Given the description of an element on the screen output the (x, y) to click on. 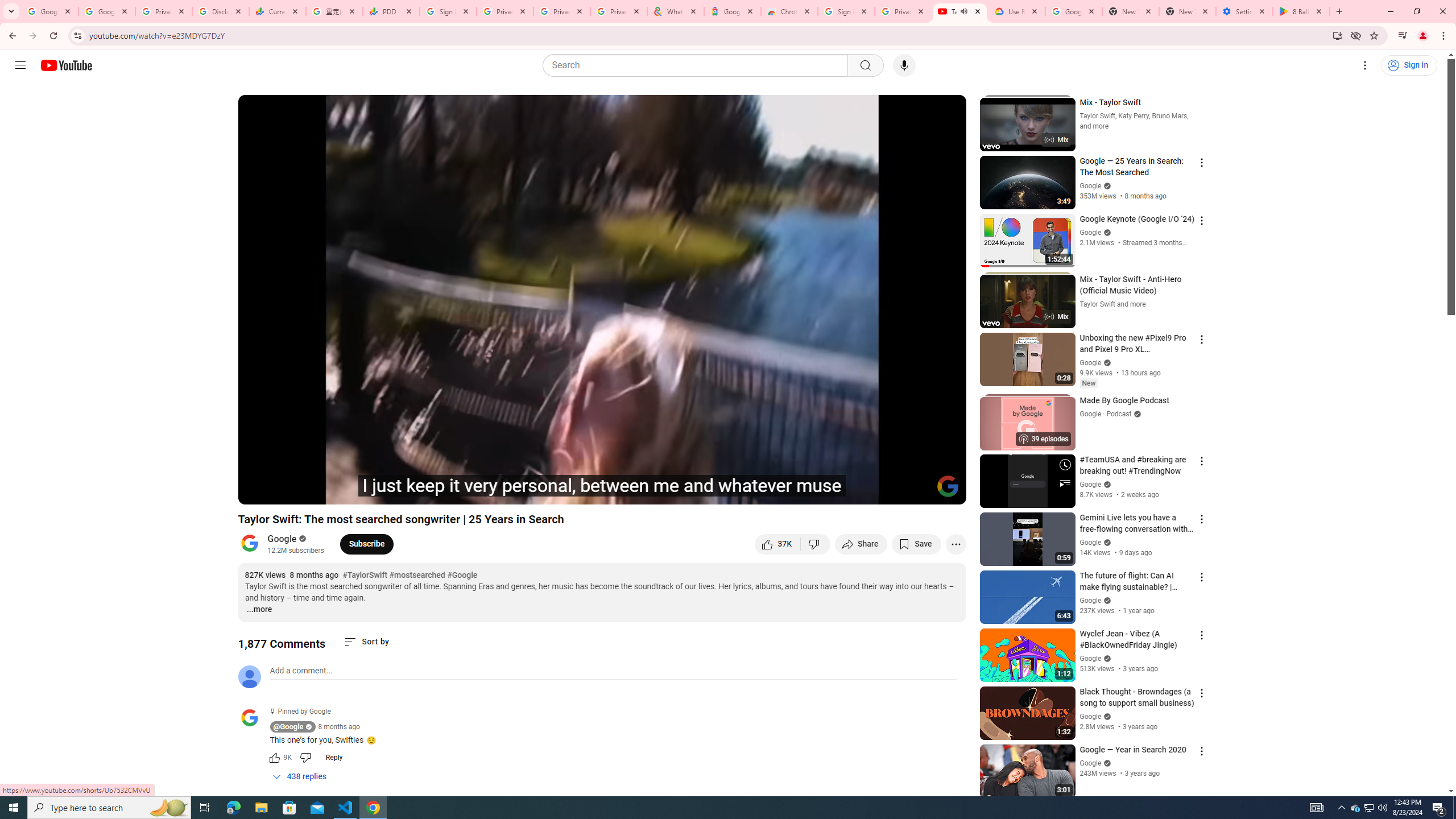
Search with your voice (903, 65)
8 Ball Pool - Apps on Google Play (1301, 11)
New (1087, 383)
Dislike this comment (304, 757)
Like this comment along with 9K other people (273, 757)
Chrome Web Store - Color themes by Chrome (788, 11)
